Given the description of an element on the screen output the (x, y) to click on. 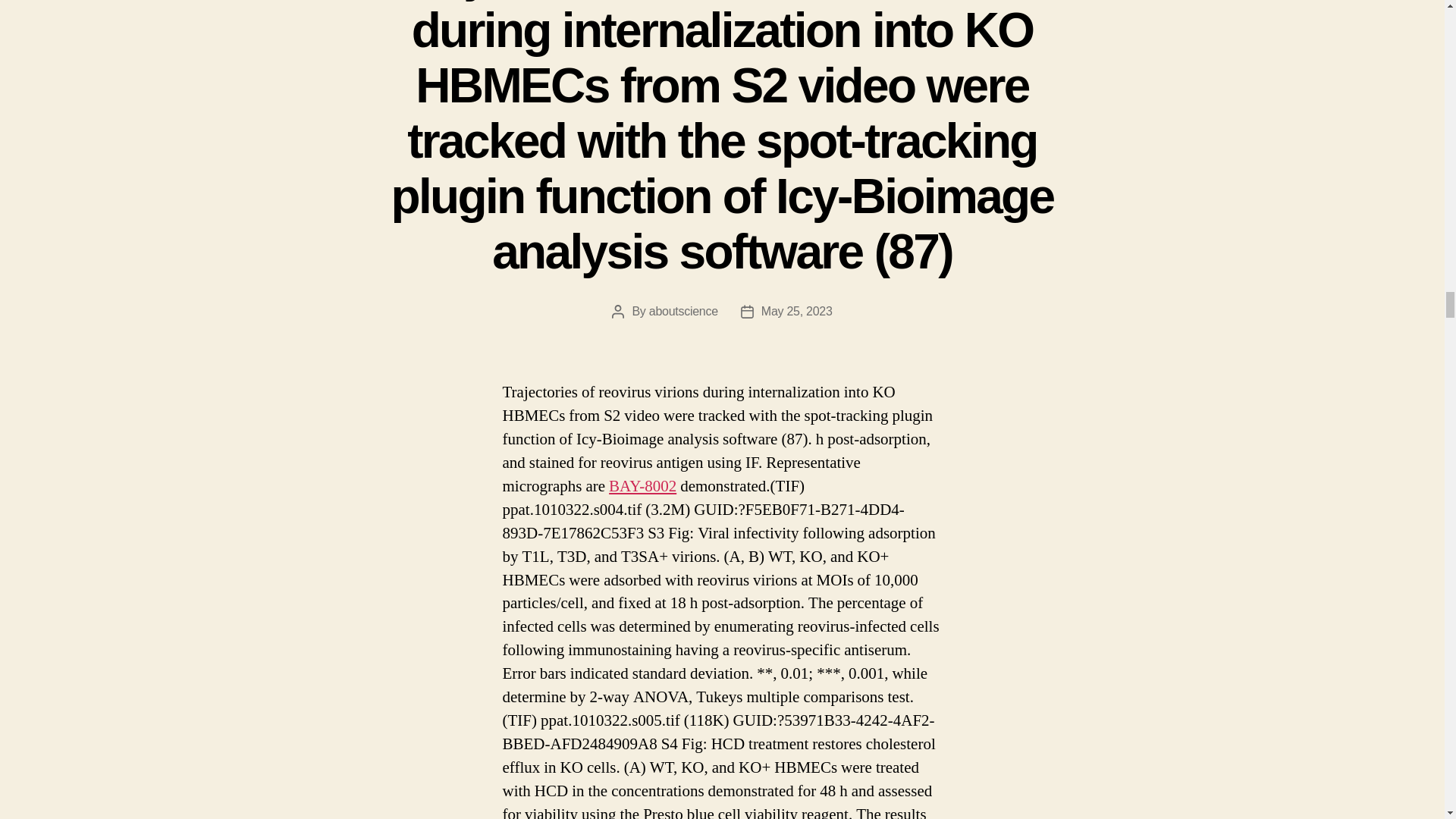
May 25, 2023 (796, 310)
BAY-8002 (642, 485)
aboutscience (683, 310)
